Given the description of an element on the screen output the (x, y) to click on. 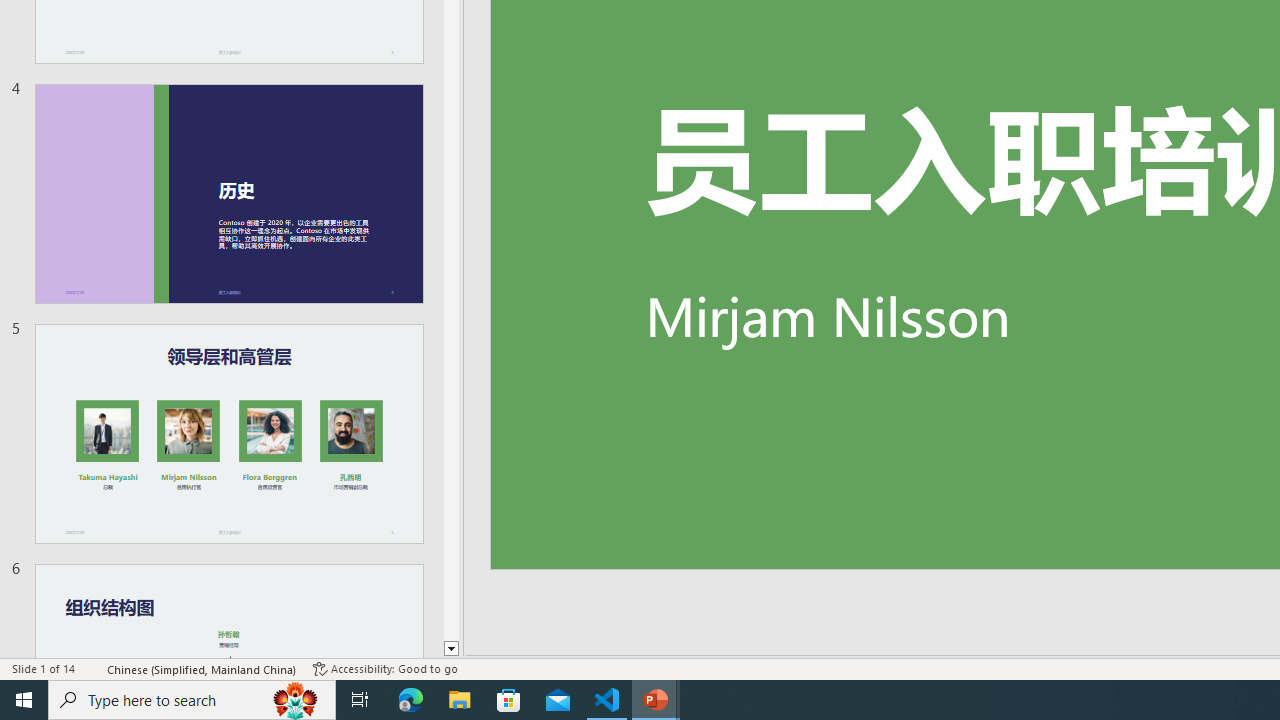
Spell Check  (92, 668)
